Given the description of an element on the screen output the (x, y) to click on. 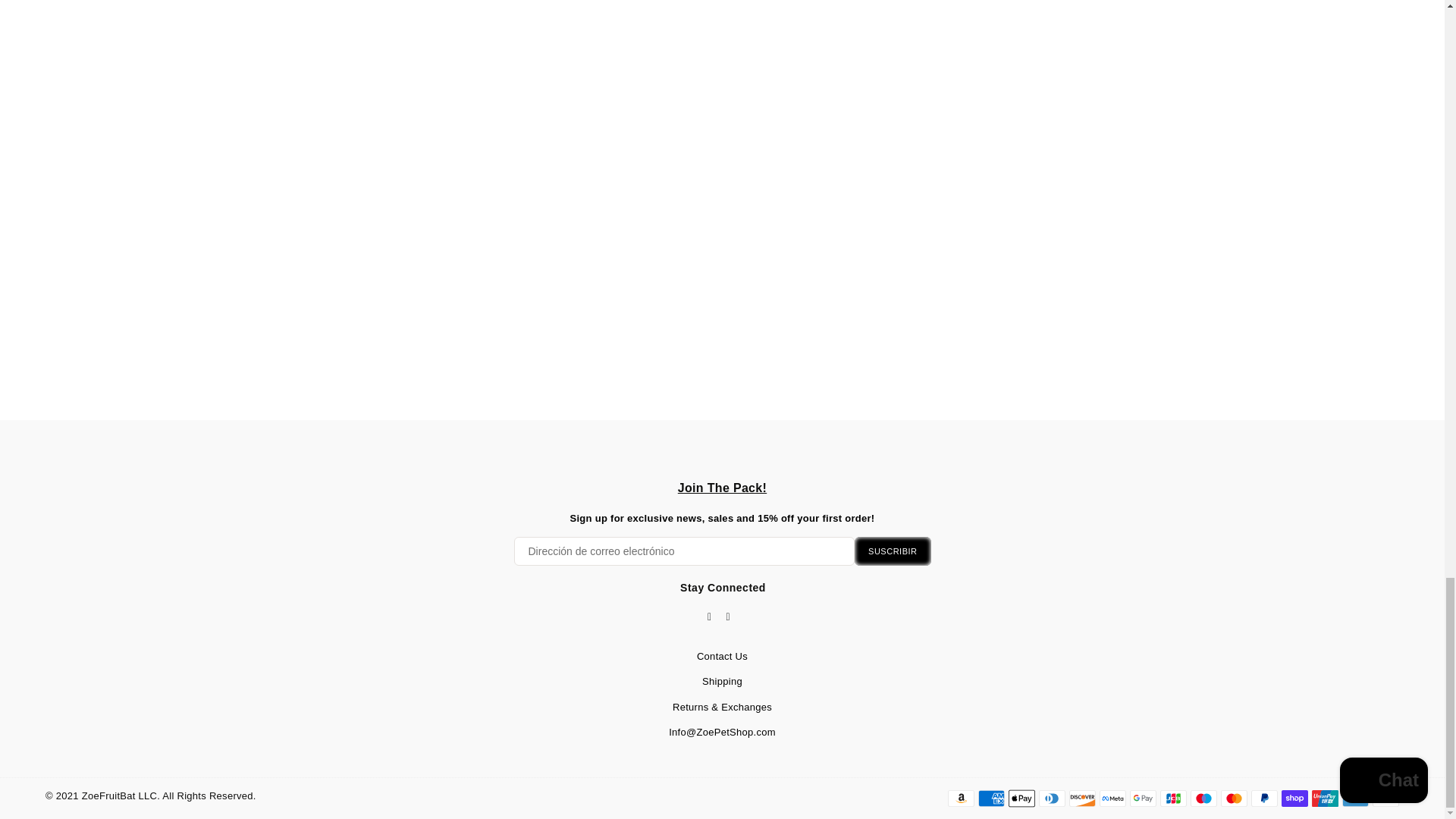
Shop Pay (1294, 798)
Google Pay (1142, 798)
Maestro (1204, 798)
Venmo (1355, 798)
Union Pay (1324, 798)
Diners Club (1052, 798)
Visa (1386, 798)
PayPal (1264, 798)
Mastercard (1234, 798)
Discover (1082, 798)
